Given the description of an element on the screen output the (x, y) to click on. 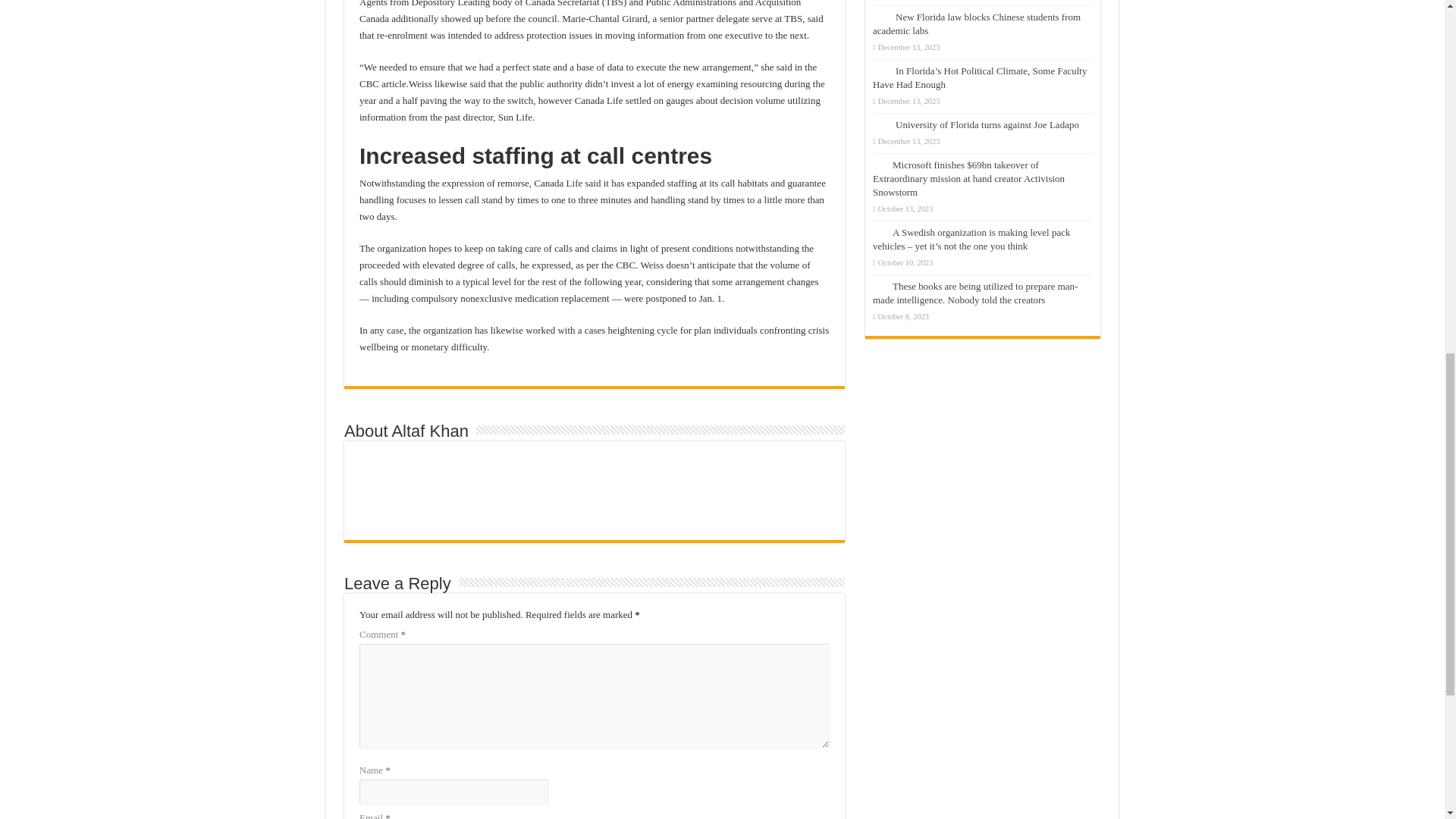
University of Florida turns against Joe Ladapo (986, 124)
New Florida law blocks Chinese students from academic labs (976, 23)
Scroll To Top (1421, 60)
